Given the description of an element on the screen output the (x, y) to click on. 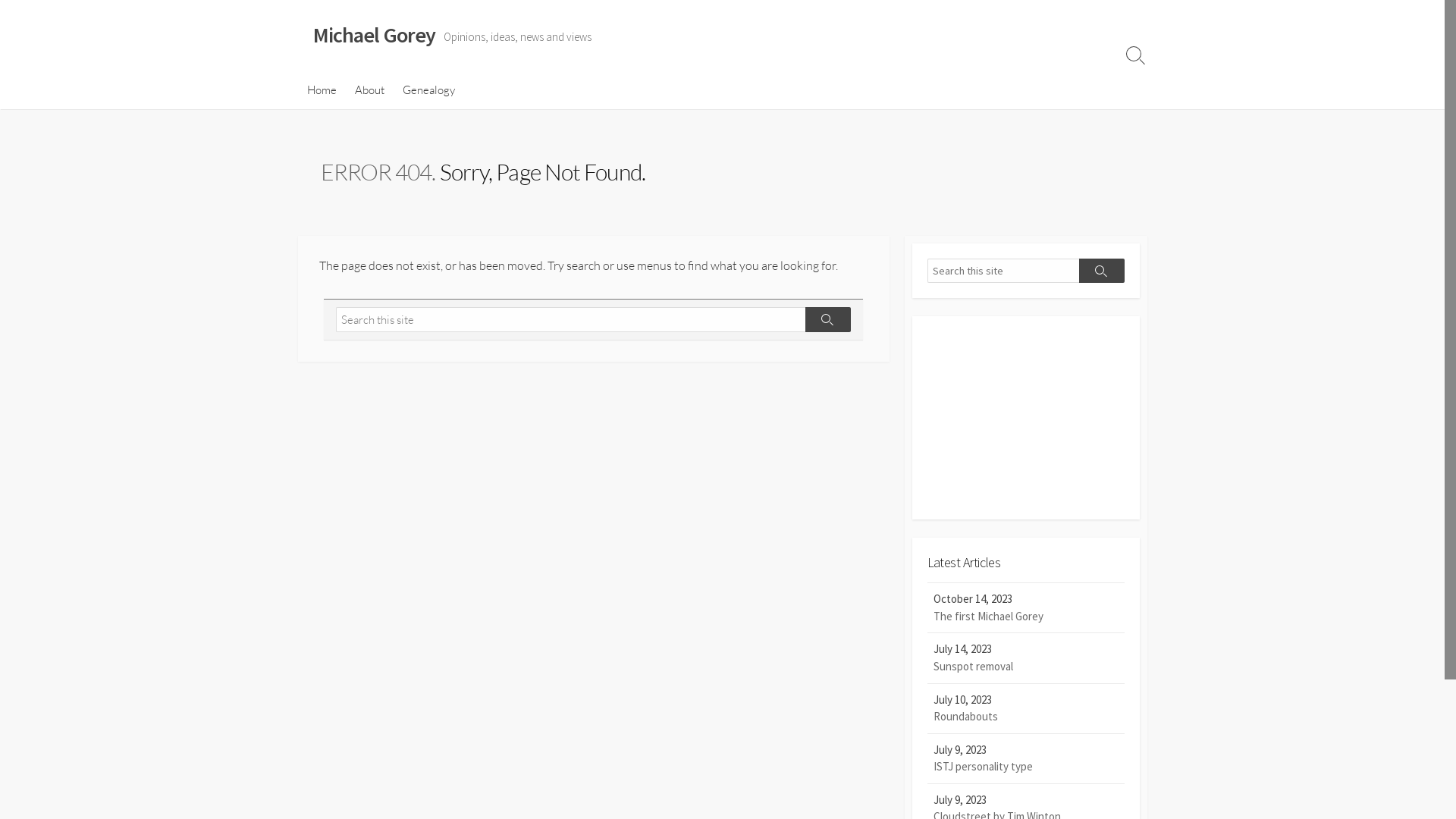
October 14, 2023
The first Michael Gorey Element type: text (1024, 607)
July 10, 2023
Roundabouts Element type: text (1024, 709)
Search Element type: text (827, 319)
July 9, 2023
ISTJ personality type Element type: text (1024, 759)
Home Element type: text (321, 90)
Genealogy Element type: text (427, 90)
Michael Gorey Element type: text (373, 35)
July 14, 2023
Sunspot removal Element type: text (1024, 658)
Bendigo weather Element type: text (1024, 496)
Search Toggle Element type: text (1135, 54)
Search Element type: text (1100, 270)
About Element type: text (369, 90)
